Given the description of an element on the screen output the (x, y) to click on. 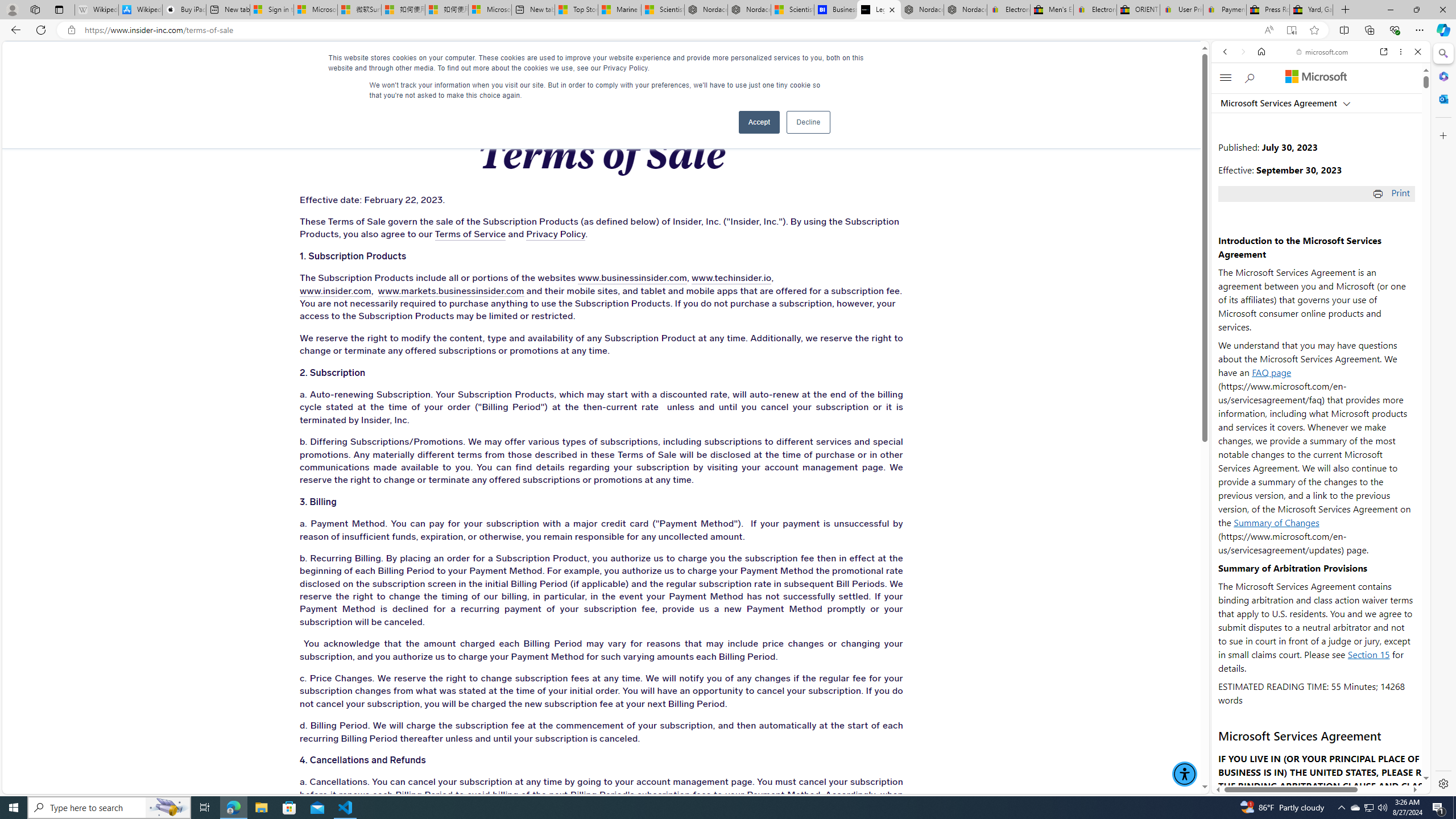
www.insider.com (334, 291)
FAQ page (1271, 372)
ADVERTISE WITH US (446, 62)
www.markets.businessinsider.com (450, 291)
Print (1392, 192)
